Given the description of an element on the screen output the (x, y) to click on. 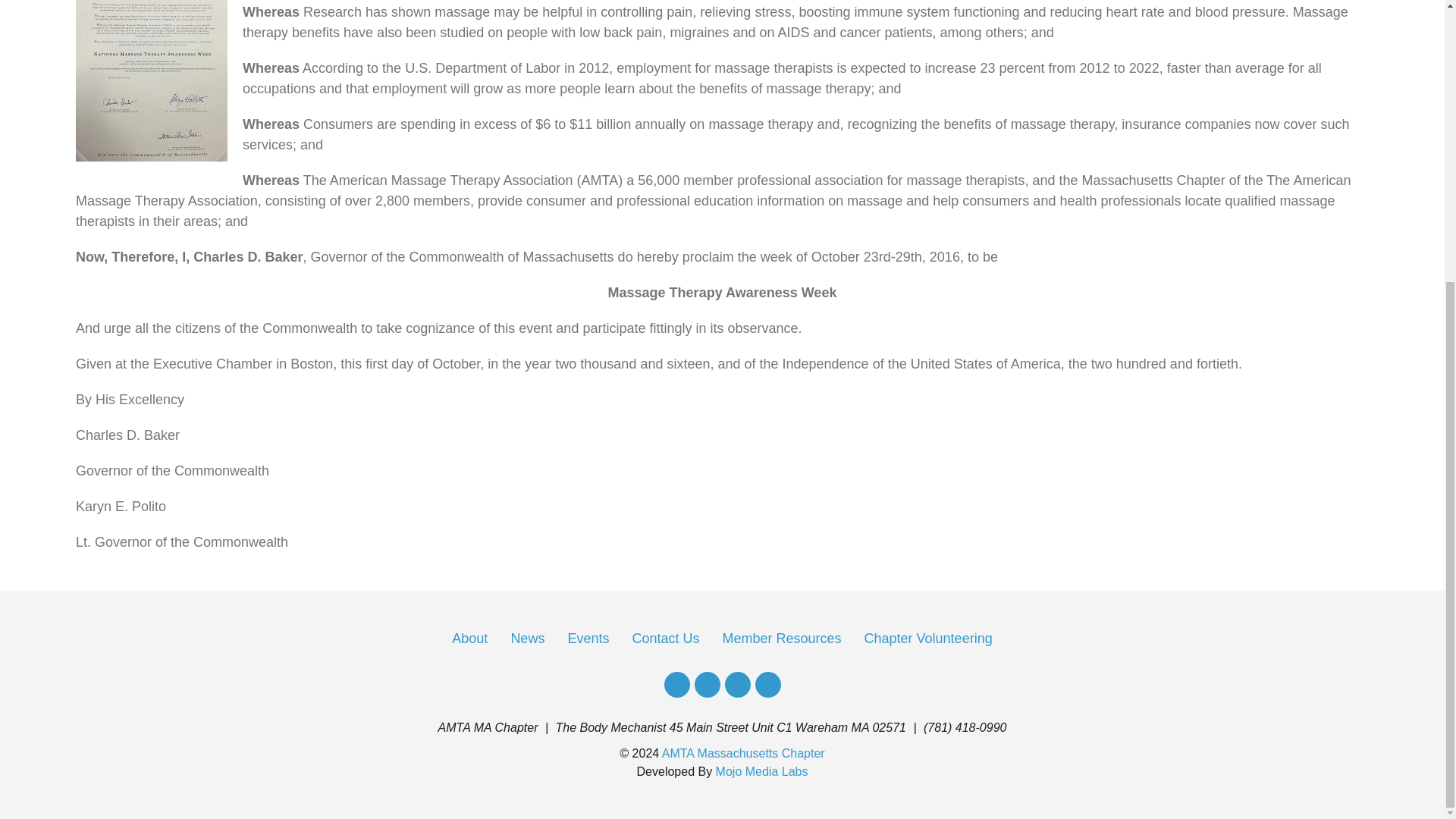
AMTA Massachusetts Chapter (743, 753)
Member Resources (781, 638)
Contact Us (664, 638)
Events (587, 638)
Mojo Media Labs (762, 771)
About (469, 638)
News (527, 638)
Chapter Volunteering (928, 638)
